Given the description of an element on the screen output the (x, y) to click on. 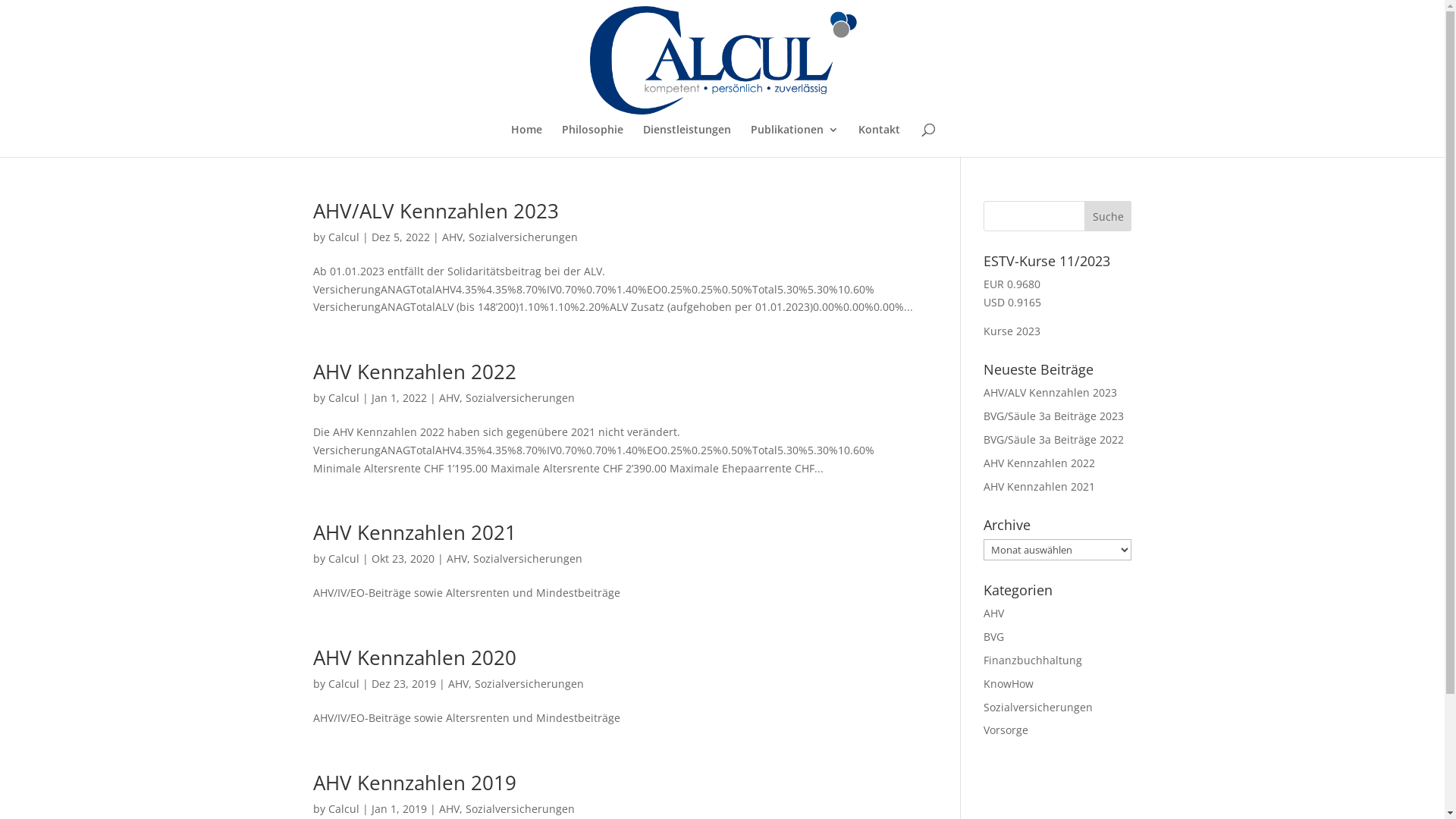
AHV Kennzahlen 2021 Element type: text (413, 532)
Finanzbuchhaltung Element type: text (1032, 659)
Home Element type: text (526, 140)
AHV Element type: text (457, 683)
Sozialversicherungen Element type: text (522, 236)
Calcul Element type: text (342, 236)
Sozialversicherungen Element type: text (519, 397)
Calcul Element type: text (342, 683)
KnowHow Element type: text (1008, 683)
AHV Element type: text (448, 808)
AHV/ALV Kennzahlen 2023 Element type: text (435, 210)
AHV Element type: text (455, 558)
Publikationen Element type: text (794, 140)
AHV Kennzahlen 2022 Element type: text (413, 371)
AHV Kennzahlen 2019 Element type: text (413, 782)
Calcul Element type: text (342, 558)
Philosophie Element type: text (592, 140)
Sozialversicherungen Element type: text (519, 808)
AHV Kennzahlen 2022 Element type: text (1039, 462)
Sozialversicherungen Element type: text (528, 683)
Kontakt Element type: text (879, 140)
AHV Kennzahlen 2020 Element type: text (413, 657)
Vorsorge Element type: text (1005, 729)
AHV Element type: text (448, 397)
AHV Element type: text (451, 236)
Calcul Element type: text (342, 397)
Calcul Element type: text (342, 808)
Sozialversicherungen Element type: text (1037, 706)
Suche Element type: text (1108, 215)
Dienstleistungen Element type: text (687, 140)
Sozialversicherungen Element type: text (527, 558)
AHV Element type: text (993, 612)
AHV/ALV Kennzahlen 2023 Element type: text (1050, 392)
AHV Kennzahlen 2021 Element type: text (1039, 486)
BVG Element type: text (993, 636)
Kurse 2023 Element type: text (1011, 330)
